Given the description of an element on the screen output the (x, y) to click on. 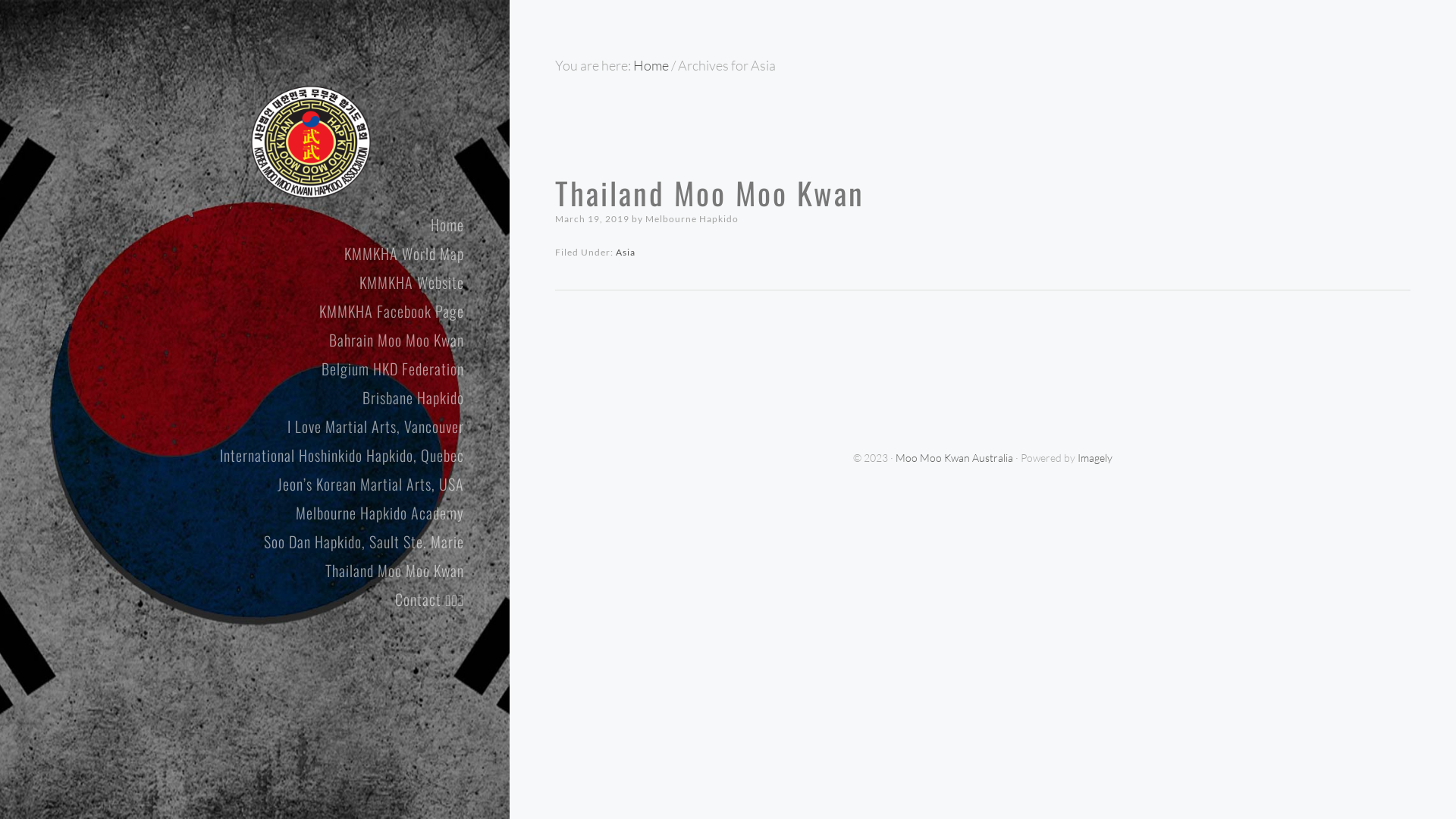
Moo Moo Kwan Australia Element type: text (310, 141)
Brisbane Hapkido Element type: text (243, 396)
Melbourne Hapkido Element type: text (691, 218)
International Hoshinkido Hapkido, Quebec Element type: text (243, 454)
Imagely Element type: text (1094, 457)
KMMKHA World Map Element type: text (243, 252)
Home Element type: text (650, 64)
Moo Moo Kwan Australia Element type: text (954, 457)
KMMKHA Website Element type: text (243, 281)
Bahrain Moo Moo Kwan Element type: text (243, 339)
Asia Element type: text (625, 251)
I Love Martial Arts, Vancouver Element type: text (243, 425)
Belgium HKD Federation Element type: text (243, 368)
Melbourne Hapkido Academy Element type: text (243, 512)
Home Element type: text (243, 224)
Thailand Moo Moo Kwan Element type: text (243, 569)
Thailand Moo Moo Kwan Element type: text (709, 192)
KMMKHA Facebook Page Element type: text (243, 310)
Soo Dan Hapkido, Sault Ste. Marie Element type: text (243, 541)
